Given the description of an element on the screen output the (x, y) to click on. 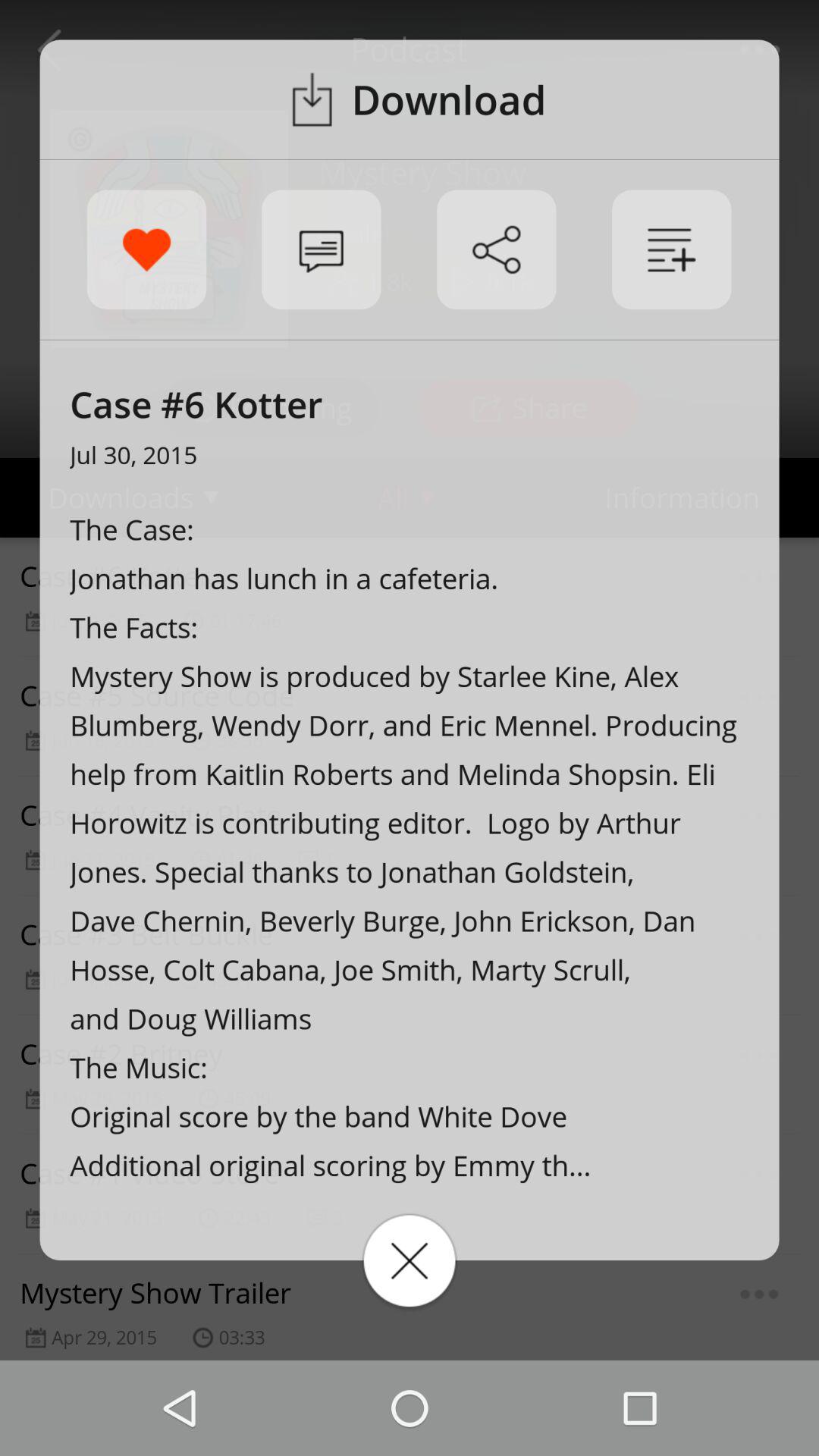
add a comment (321, 249)
